Given the description of an element on the screen output the (x, y) to click on. 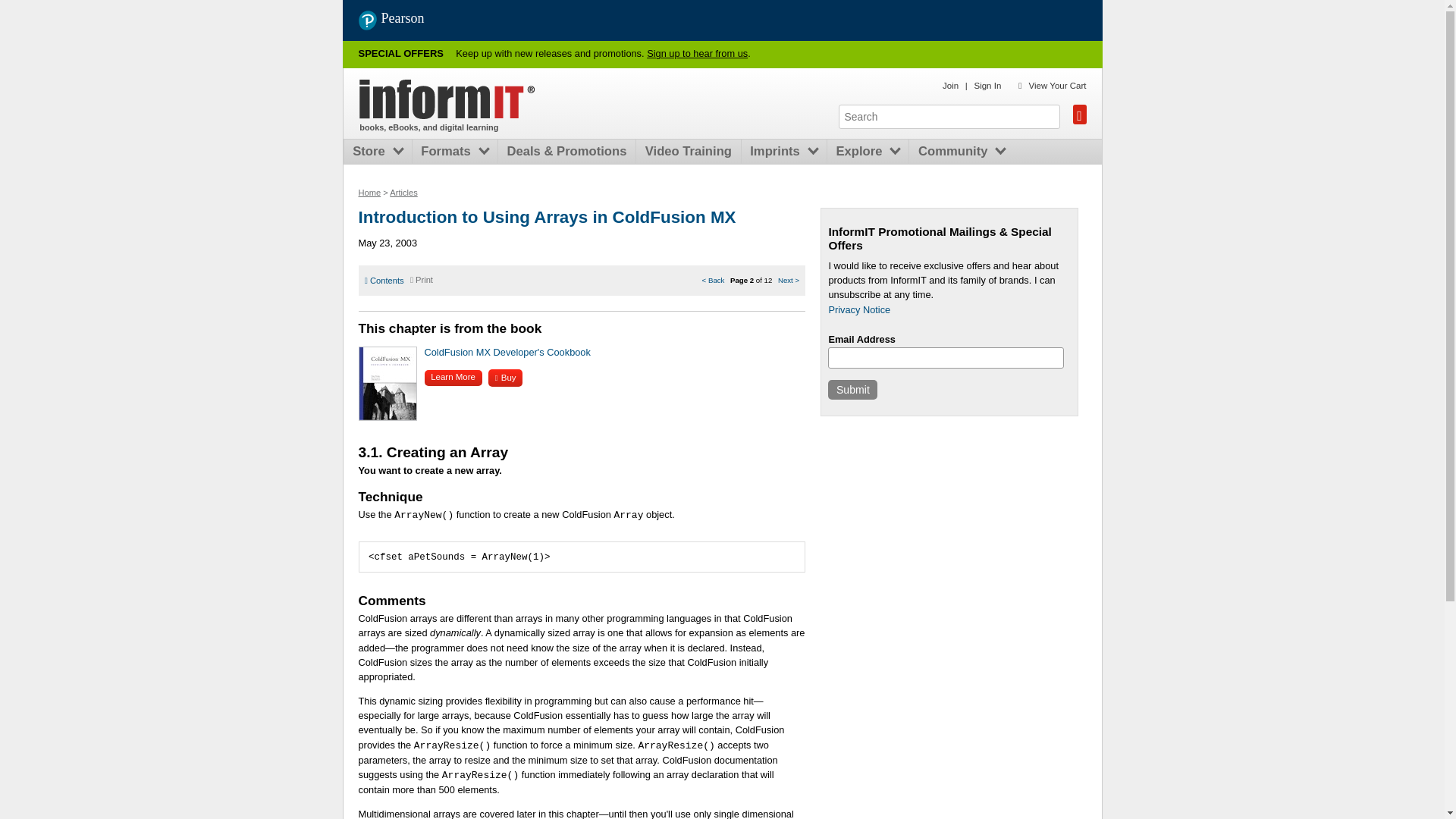
View Your Cart (1057, 85)
Submit (852, 389)
Sign up to hear from us (697, 52)
Learn More (453, 377)
Home (446, 98)
Submit (852, 389)
Print (421, 279)
Privacy Notice (858, 309)
Join (950, 85)
Introduction to Using Arrays in ColdFusion MX (546, 217)
